Given the description of an element on the screen output the (x, y) to click on. 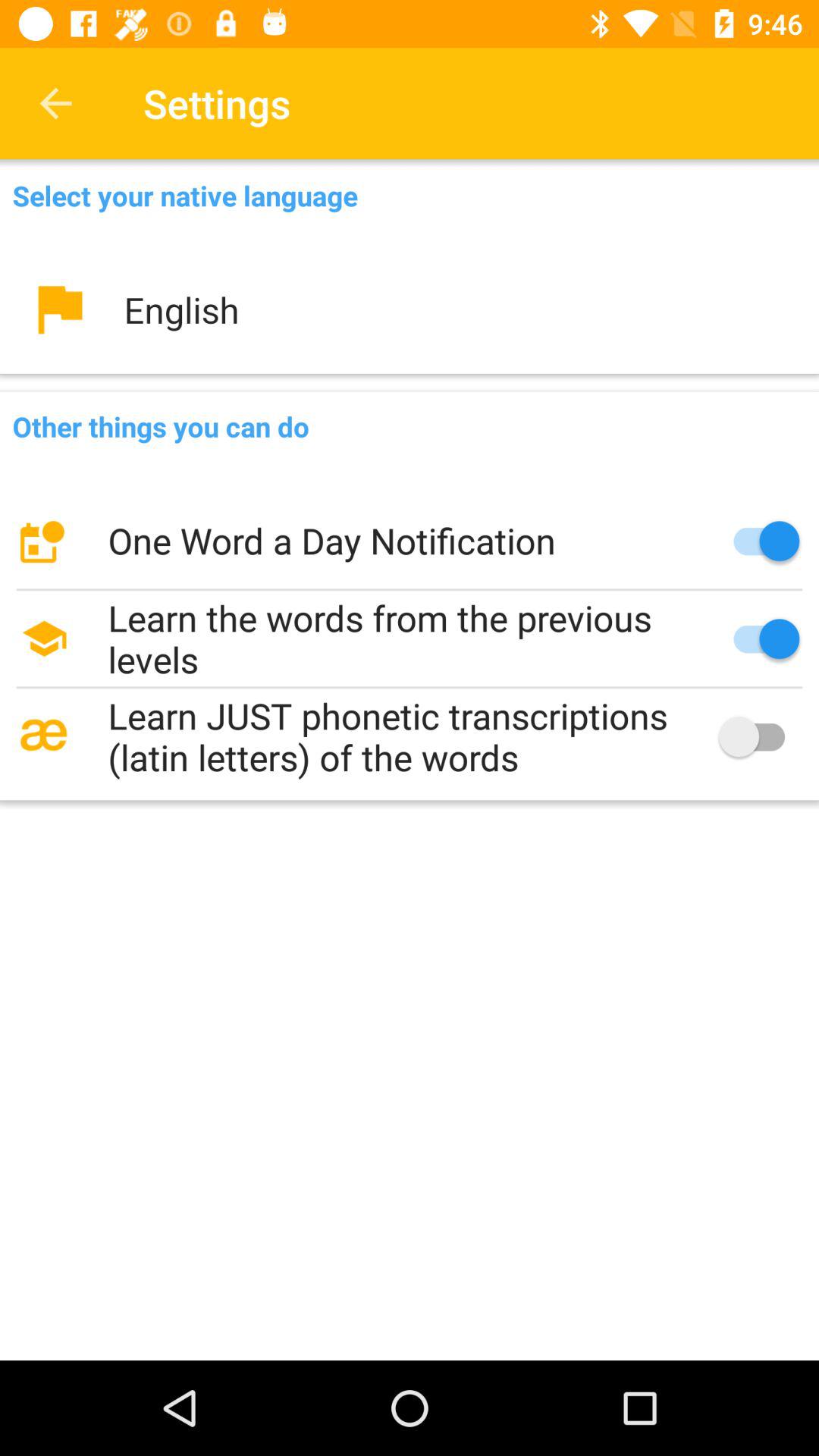
click the icon below select your native item (409, 309)
